Given the description of an element on the screen output the (x, y) to click on. 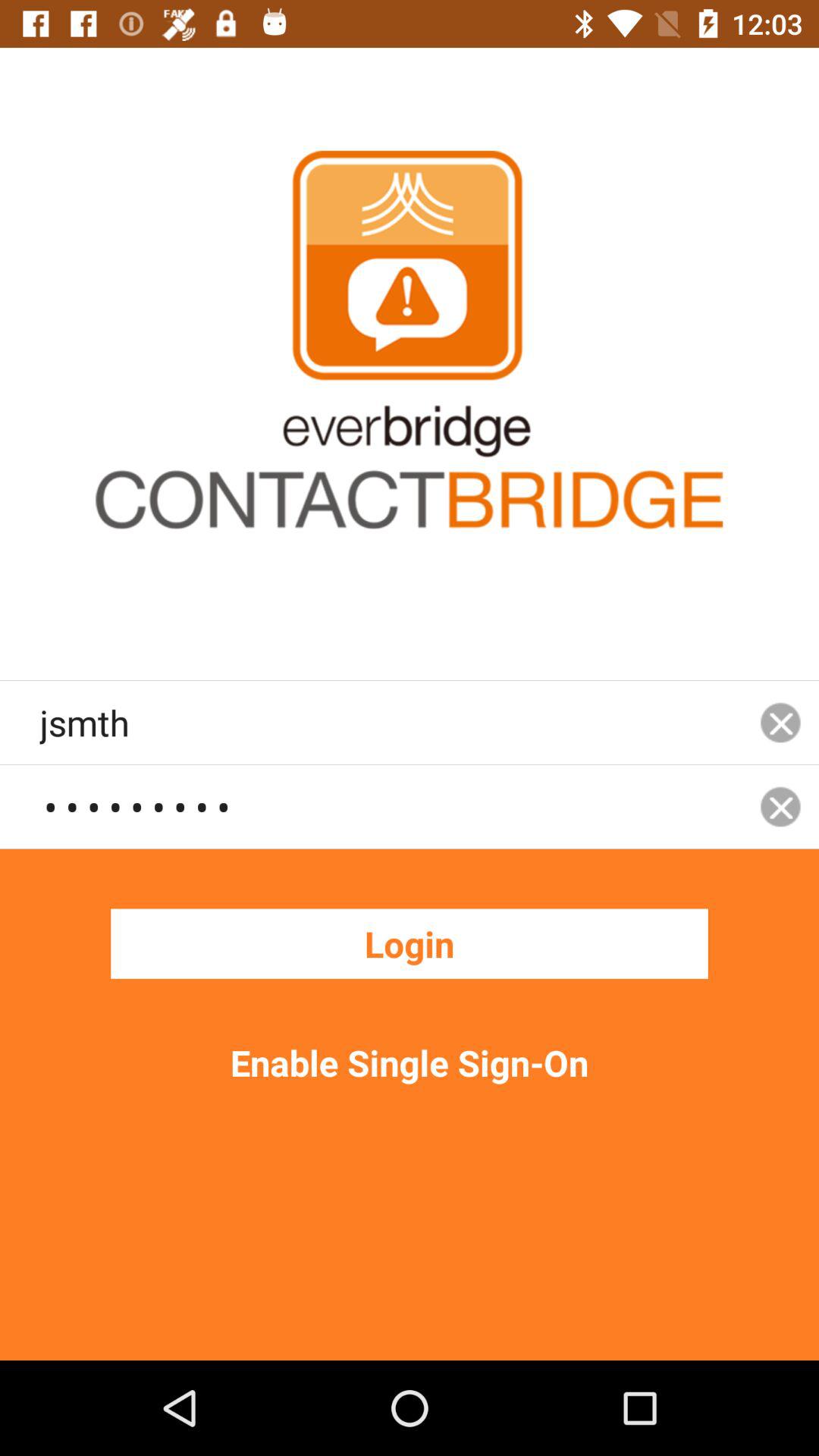
open item next to the jsmth (780, 806)
